Given the description of an element on the screen output the (x, y) to click on. 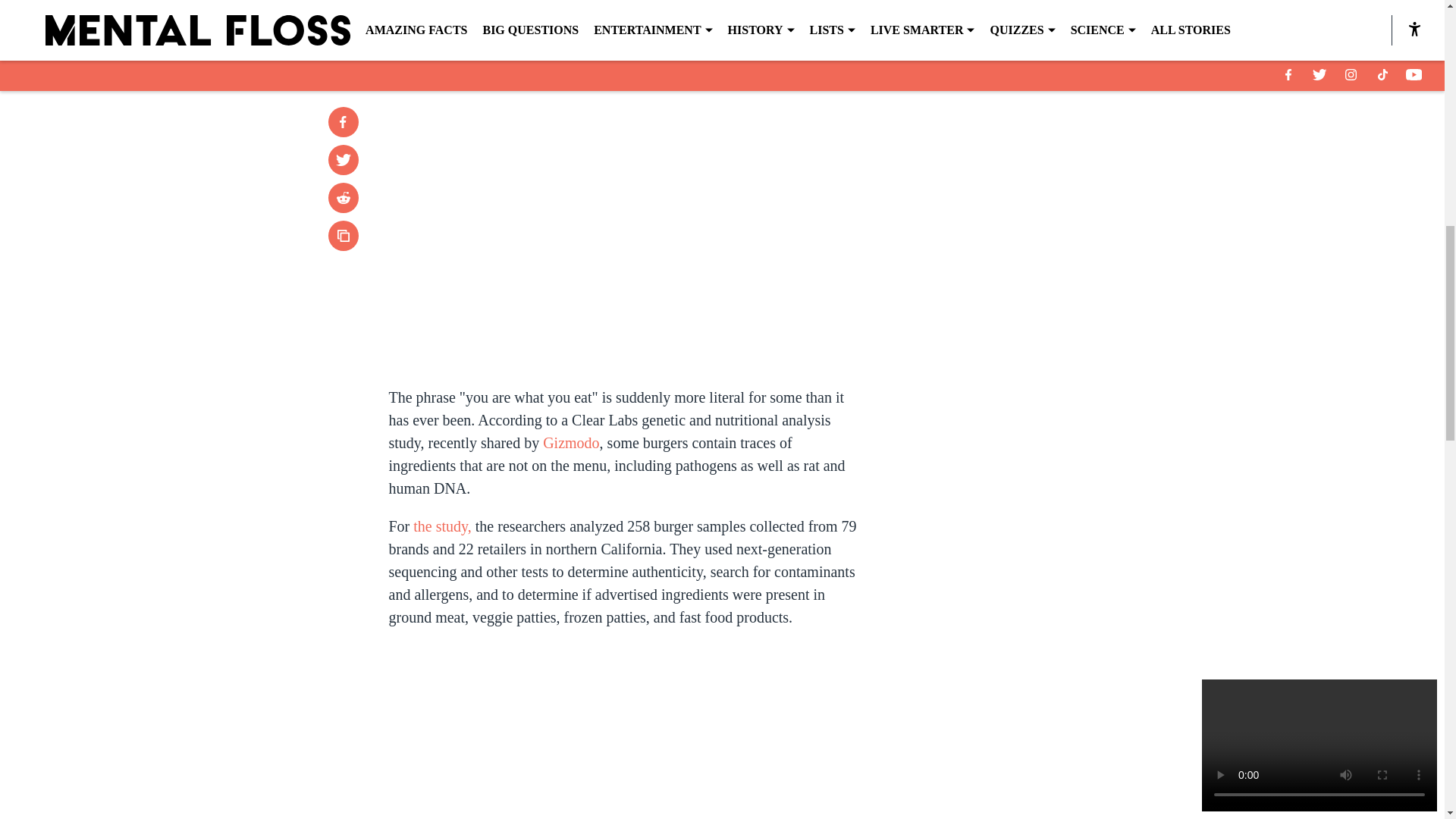
iStock (721, 22)
3rd party ad content (1047, 420)
3rd party ad content (1047, 200)
